Given the description of an element on the screen output the (x, y) to click on. 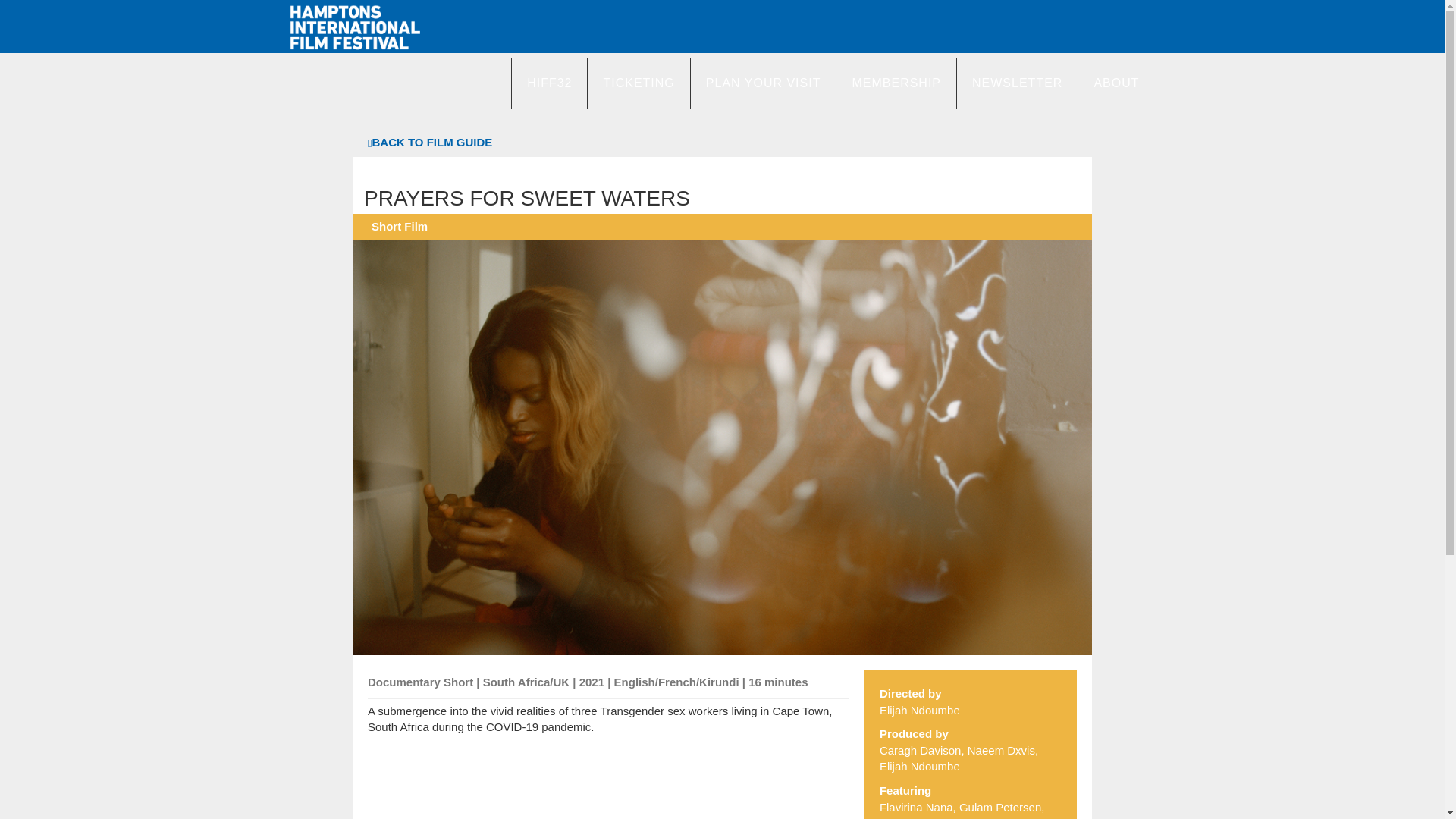
NEWSLETTER (1016, 82)
Short Film (399, 226)
TICKETING (637, 82)
ABOUT (1115, 82)
HIFF32 (548, 82)
PLAN YOUR VISIT (762, 82)
BACK TO FILM GUIDE (430, 141)
Hamptons International Film Festival (354, 26)
MEMBERSHIP (895, 82)
